Given the description of an element on the screen output the (x, y) to click on. 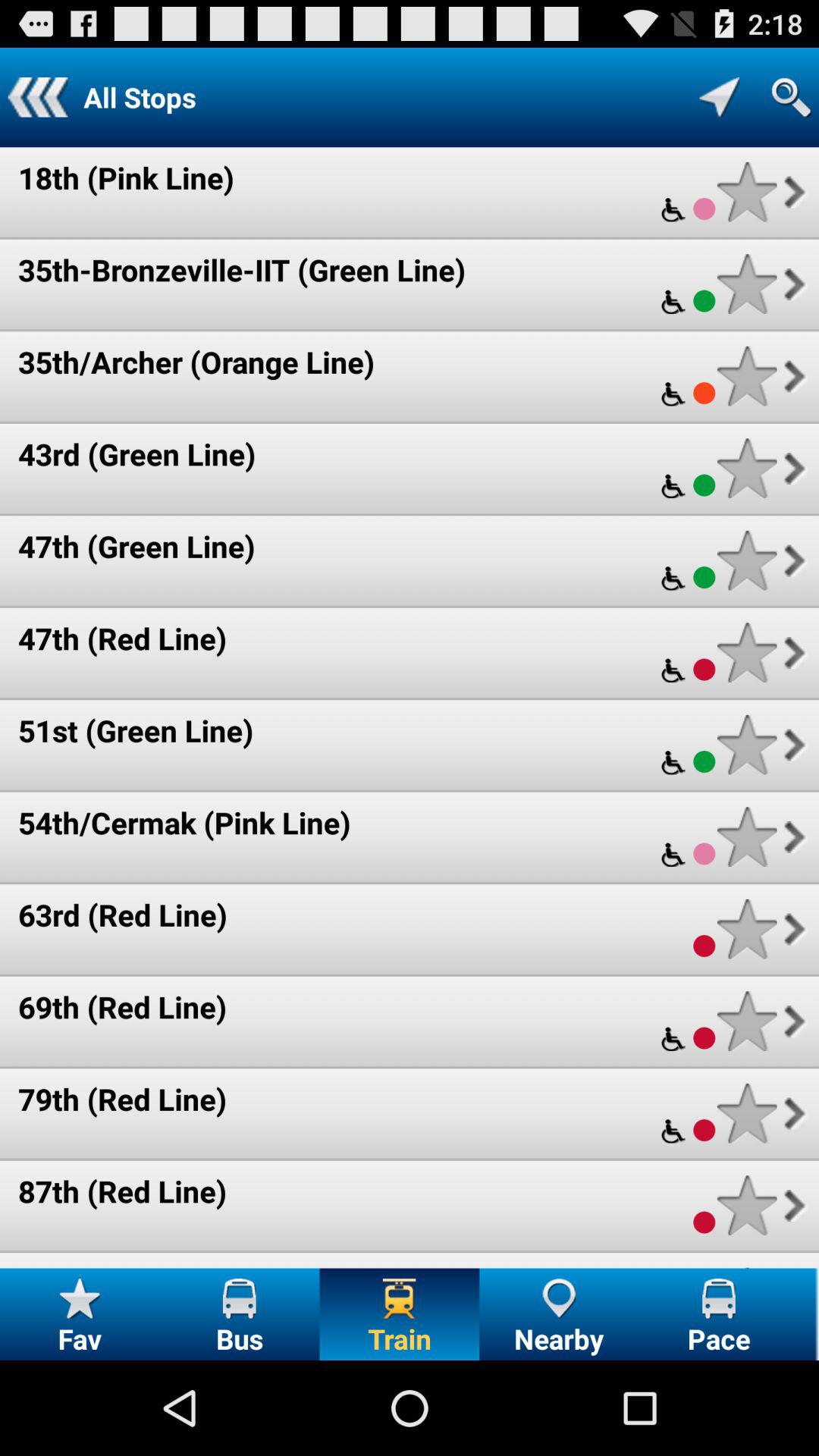
highlight/star this stop (746, 283)
